Given the description of an element on the screen output the (x, y) to click on. 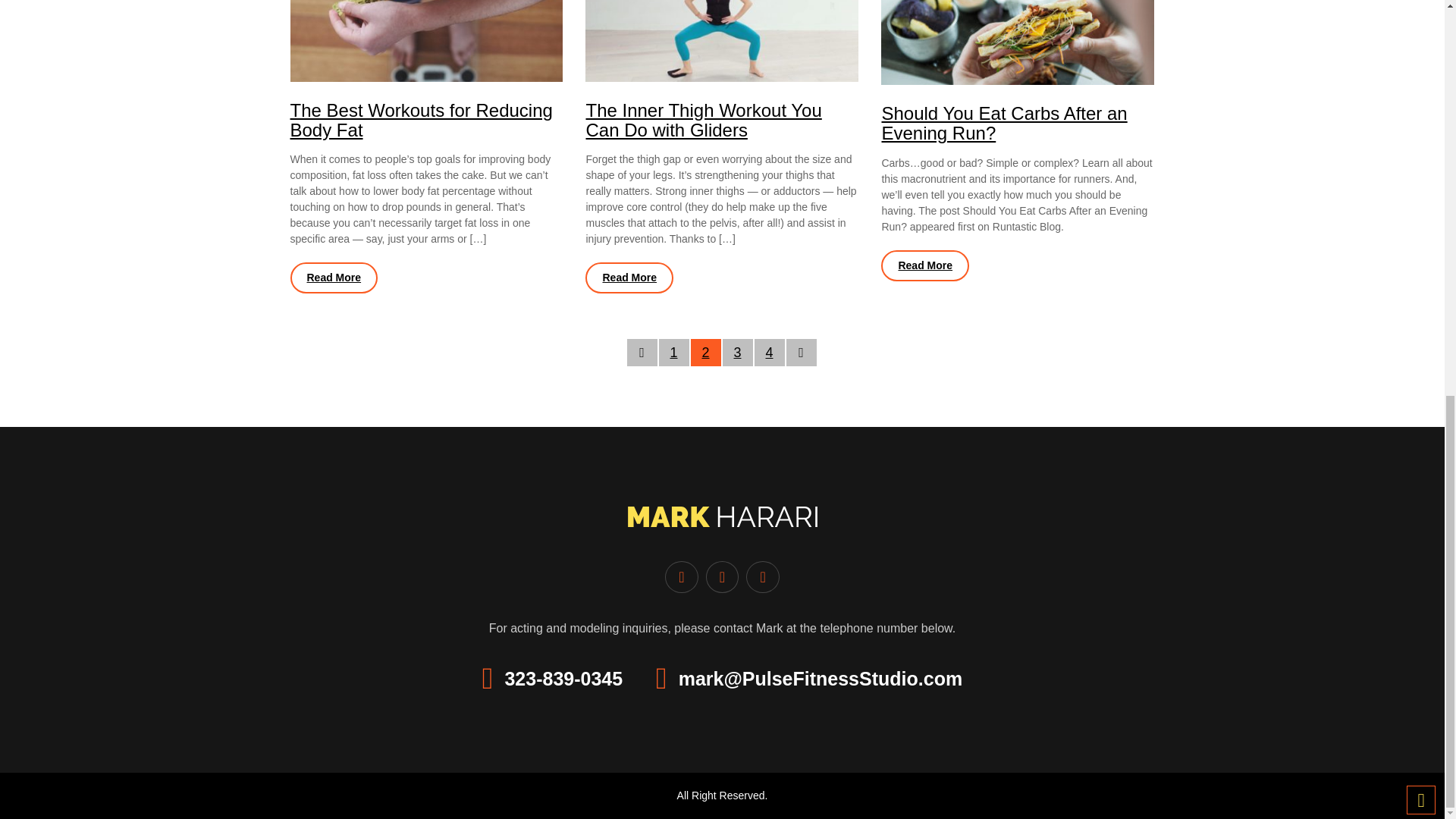
1 (673, 352)
Read More (924, 265)
The Best Workouts for Reducing Body Fat (420, 119)
The Inner Thigh Workout You Can Do with Gliders (703, 119)
Read More (628, 277)
Should You Eat Carbs After an Evening Run? (1003, 123)
Read More (333, 277)
